Given the description of an element on the screen output the (x, y) to click on. 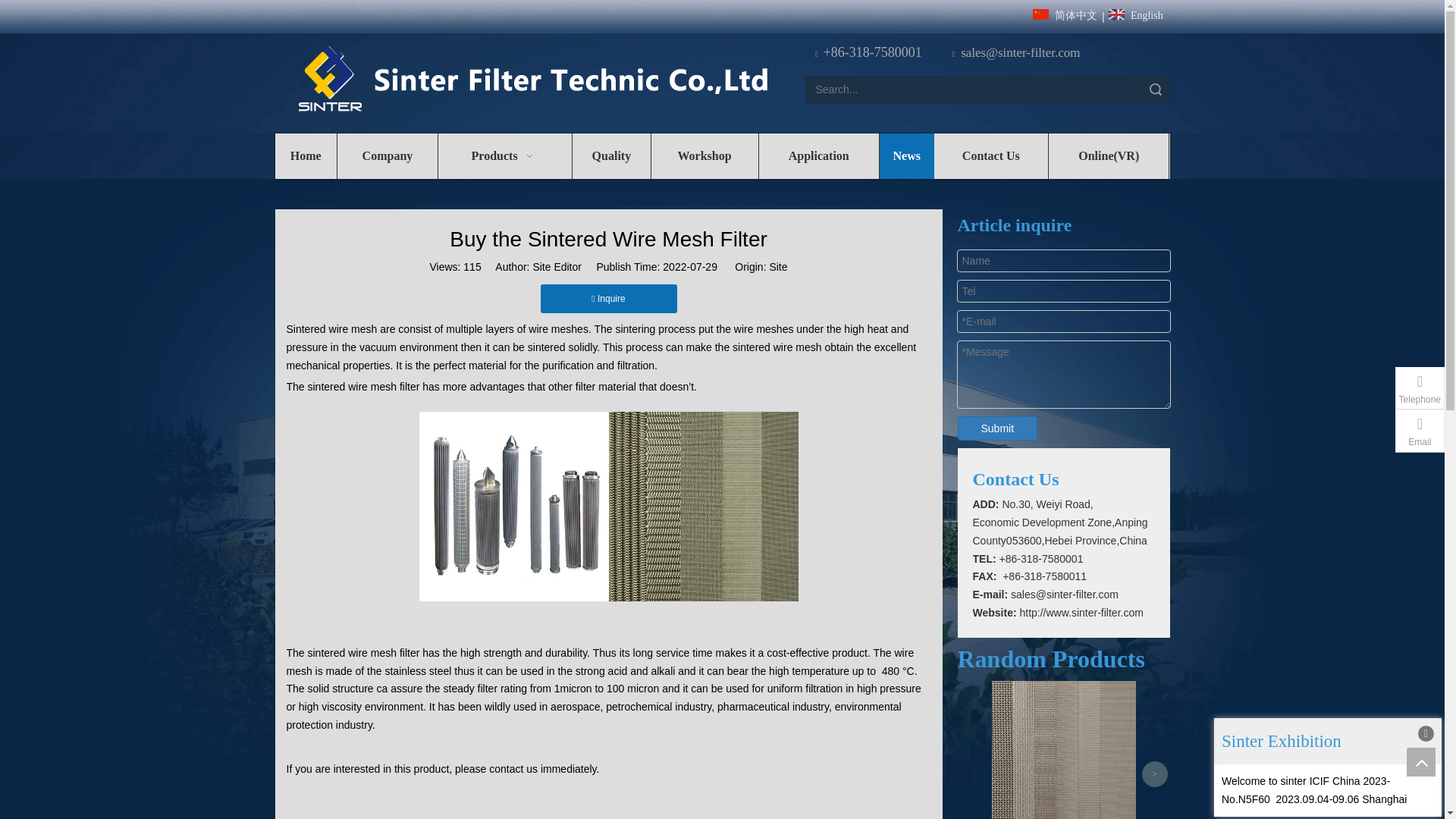
Workshop (704, 156)
Application (818, 156)
HeBei Sinter Filter Technic Co.,LTD. (532, 79)
Search (1155, 89)
English (1134, 16)
Contact Us (991, 156)
Inquire (608, 298)
sintered-wire-mesh-filter (702, 506)
Products   (505, 156)
Company (387, 156)
